Given the description of an element on the screen output the (x, y) to click on. 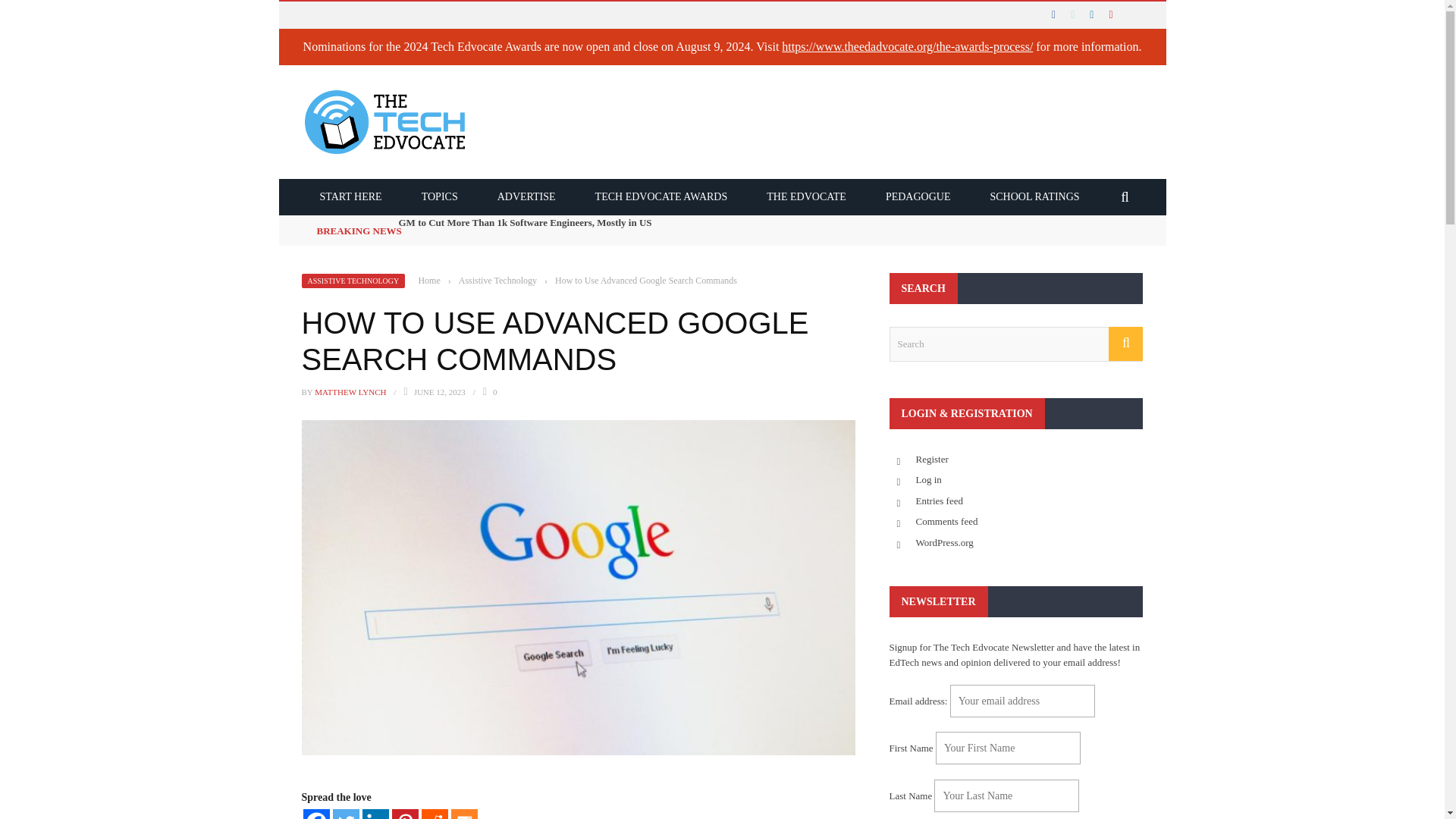
Mix (463, 814)
Facebook (316, 814)
Search (1015, 343)
Pinterest (404, 814)
Linkedin (375, 814)
Reddit (435, 814)
Twitter (344, 814)
